Given the description of an element on the screen output the (x, y) to click on. 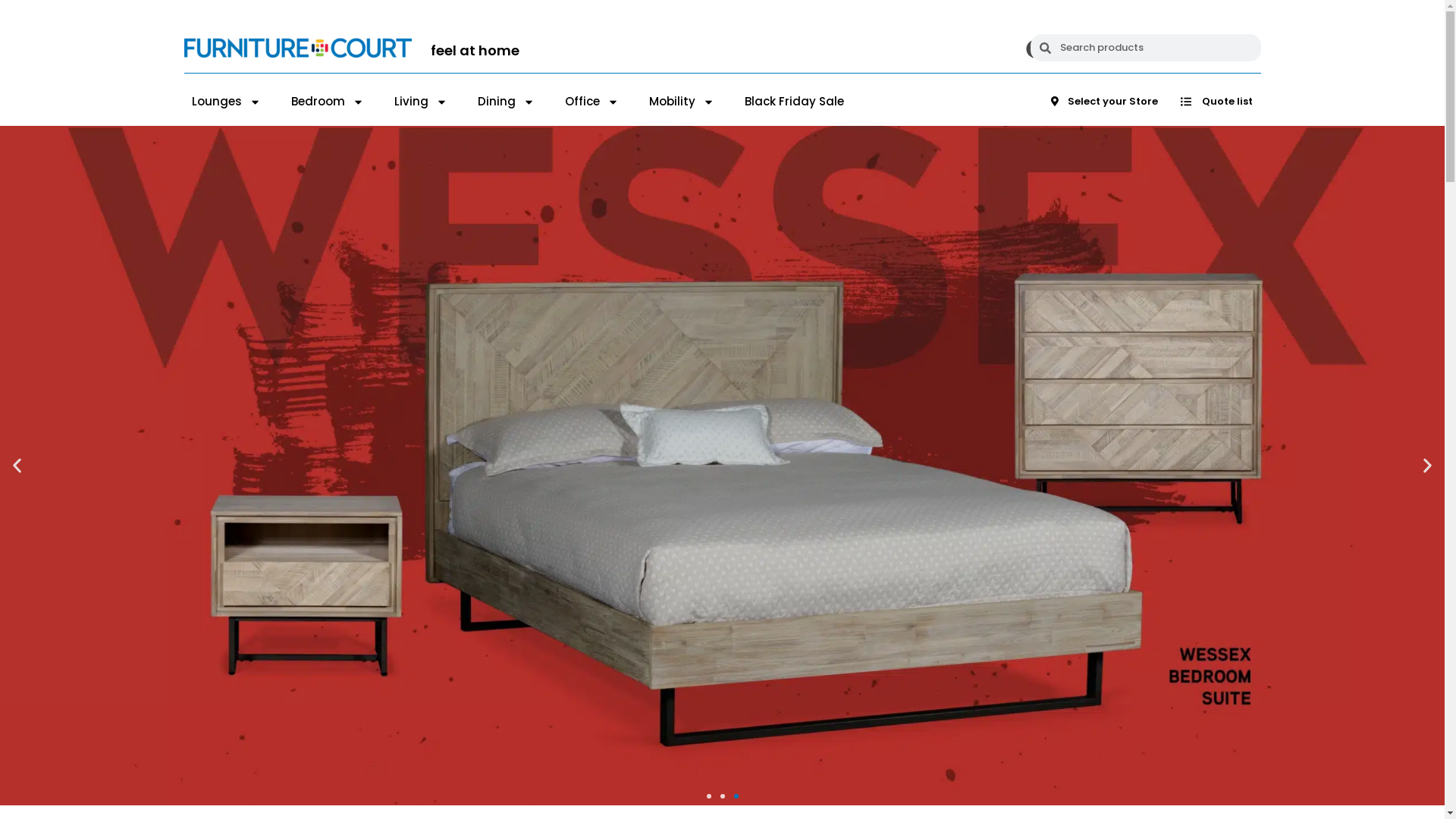
Lounges Element type: text (225, 101)
Black Friday Sale Element type: text (794, 101)
Office Element type: text (591, 101)
Dining Element type: text (505, 101)
Bedroom Element type: text (327, 101)
Mobility Element type: text (681, 101)
Living Element type: text (420, 101)
Select your Store Element type: text (1104, 101)
Quote list Element type: text (1216, 101)
